Given the description of an element on the screen output the (x, y) to click on. 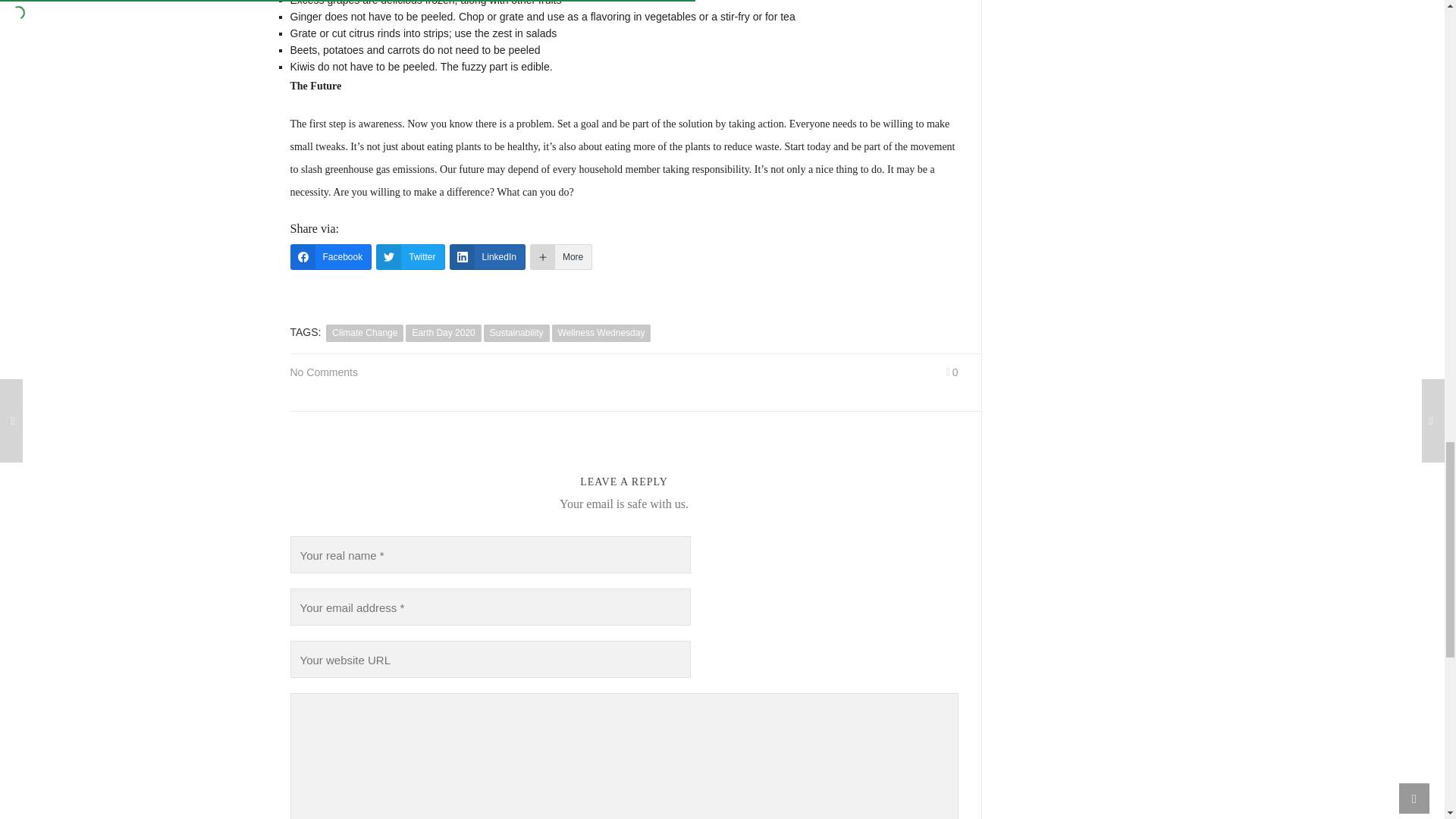
Facebook (330, 257)
Wellness Wednesday (600, 333)
LinkedIn (487, 257)
Twitter (409, 257)
Sustainability (516, 333)
Climate Change (364, 333)
No Comments (322, 372)
More (560, 257)
Earth Day 2020 (443, 333)
